Given the description of an element on the screen output the (x, y) to click on. 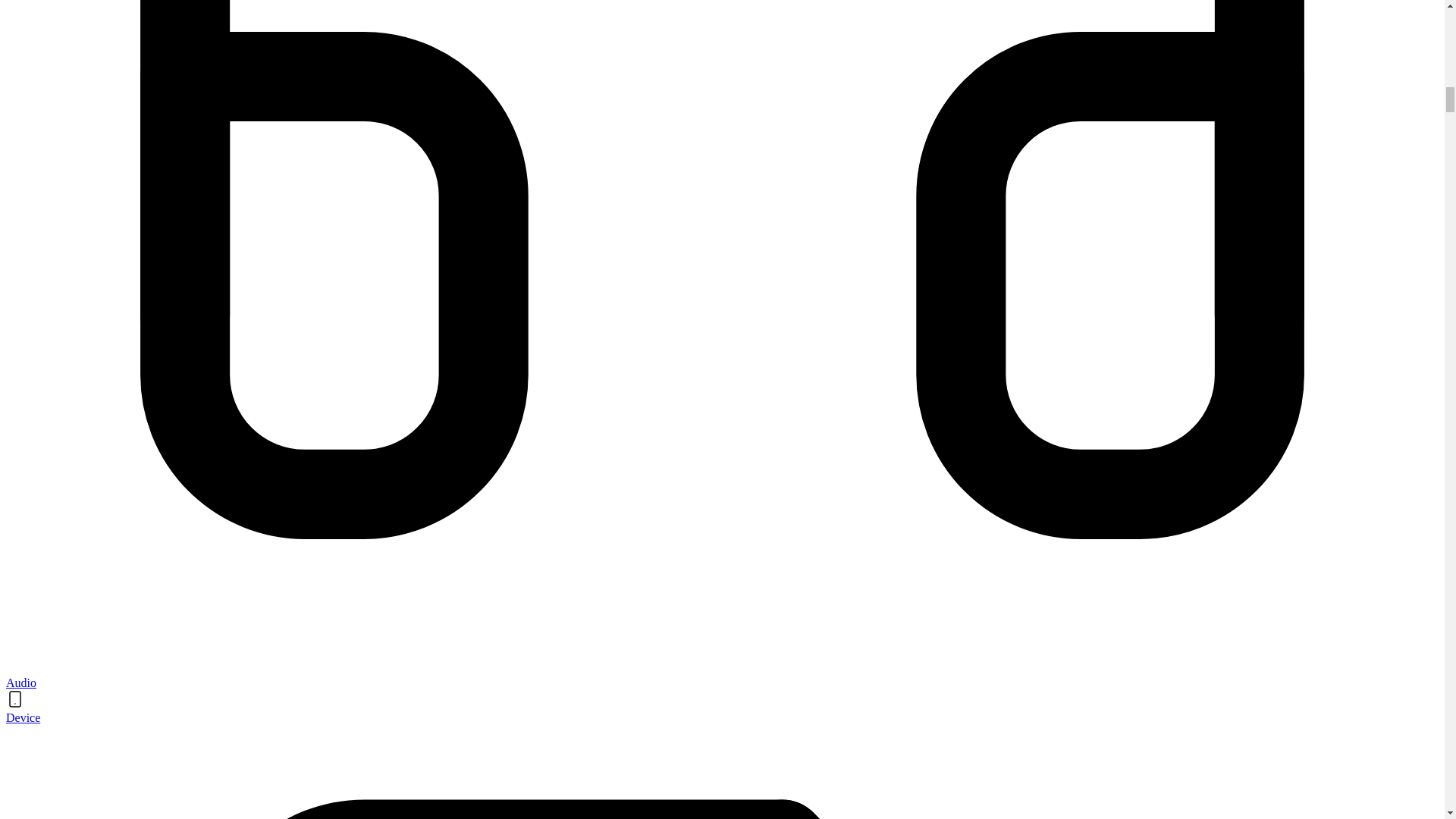
Audio (20, 682)
Device (22, 717)
